Given the description of an element on the screen output the (x, y) to click on. 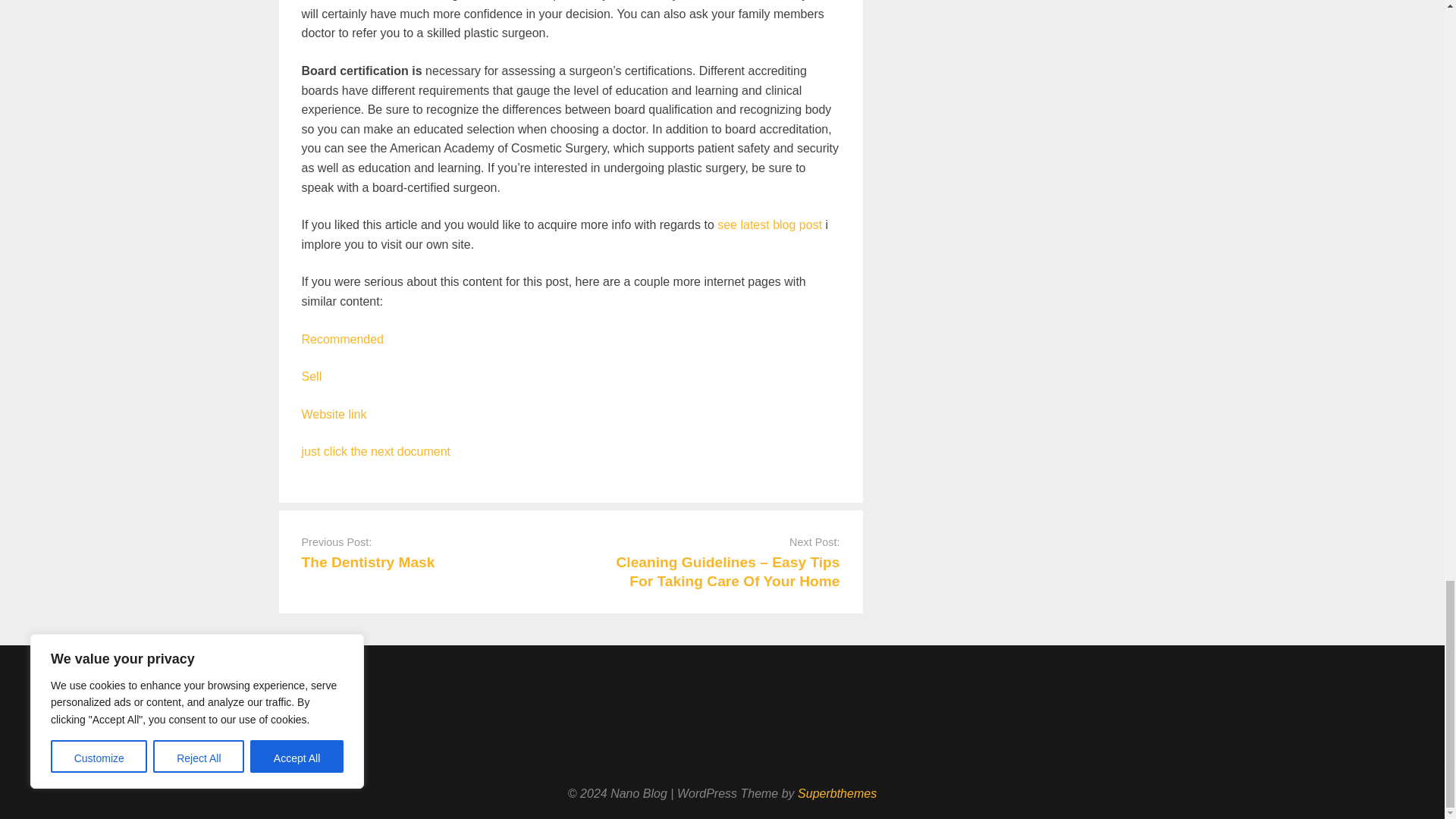
Recommended (342, 338)
see latest blog post (769, 224)
Sell (311, 376)
just click the next document (376, 451)
Website link (333, 413)
The Dentistry Mask (368, 562)
